Given the description of an element on the screen output the (x, y) to click on. 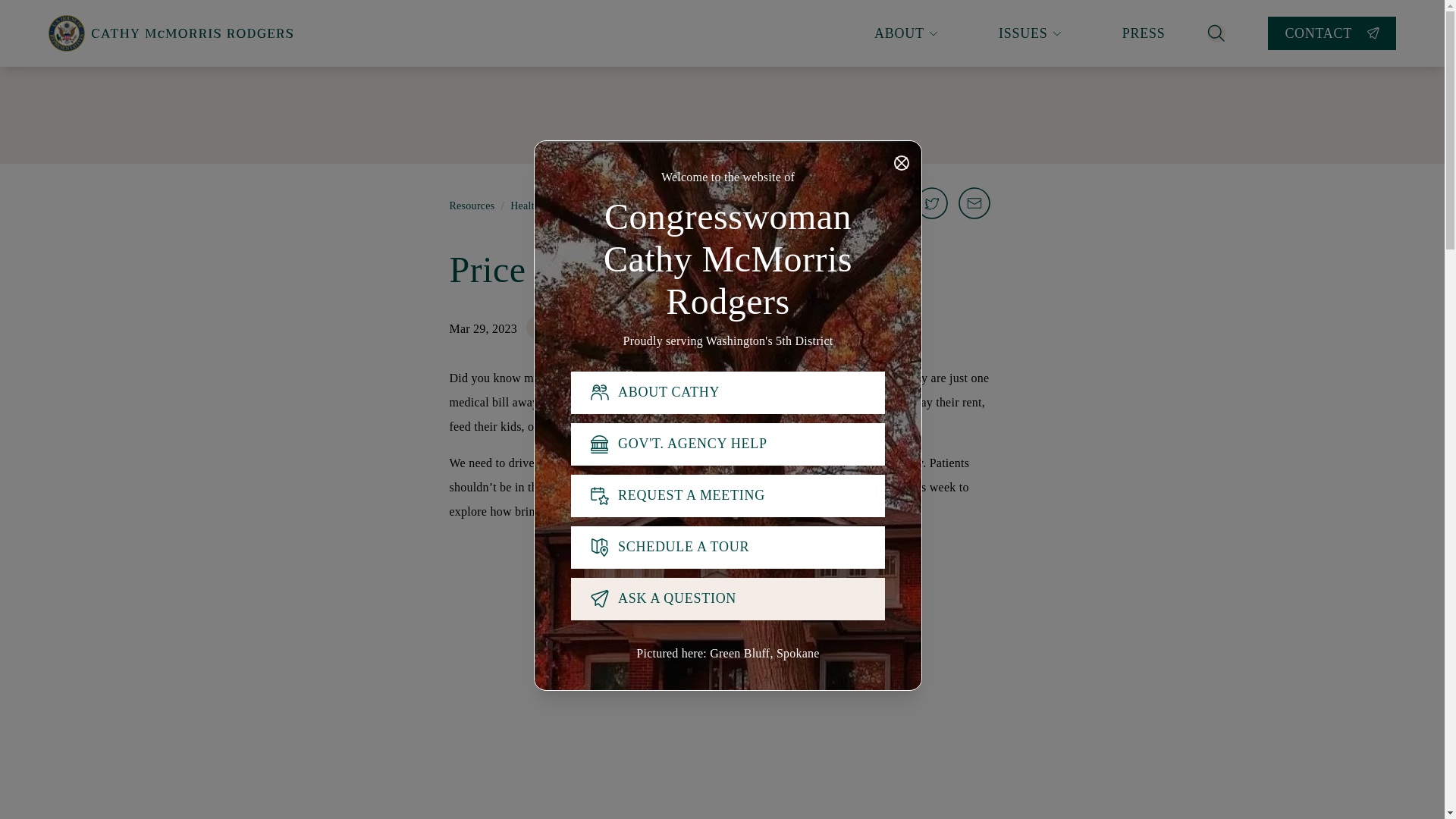
Health Care (537, 206)
hearing (886, 486)
Resources (471, 206)
Health Care (573, 328)
ASK A QUESTION (727, 598)
ABOUT (906, 33)
GOV'T. AGENCY HELP (727, 444)
ISSUES (1030, 33)
CONTACT (1332, 32)
ABOUT CATHY (727, 392)
PRESS (1143, 33)
SCHEDULE A TOUR (727, 547)
CONTACT (1332, 33)
REQUEST A MEETING (727, 495)
